Given the description of an element on the screen output the (x, y) to click on. 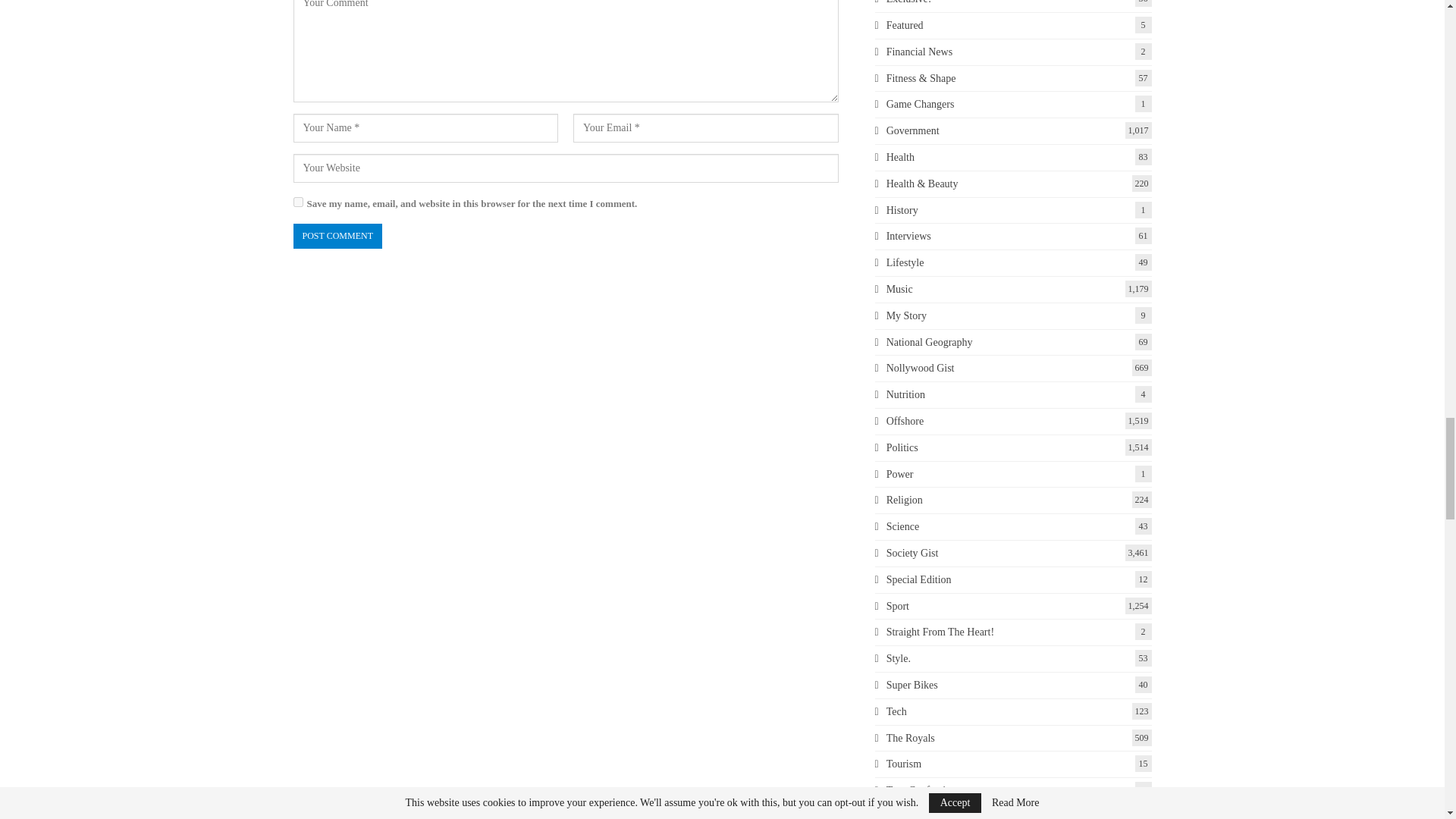
yes (297, 202)
Post Comment (336, 235)
